Given the description of an element on the screen output the (x, y) to click on. 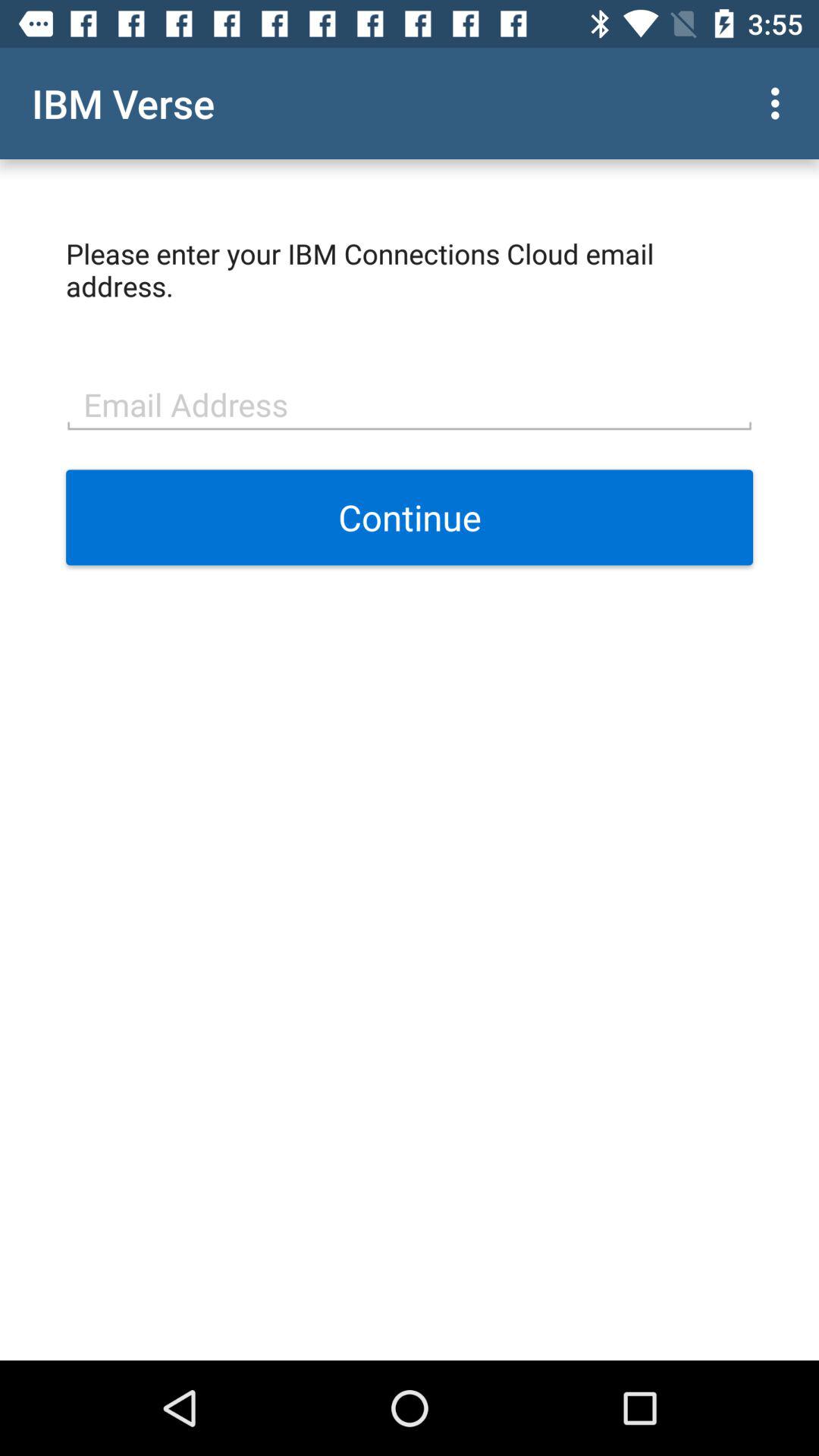
choose item next to ibm verse (779, 103)
